Given the description of an element on the screen output the (x, y) to click on. 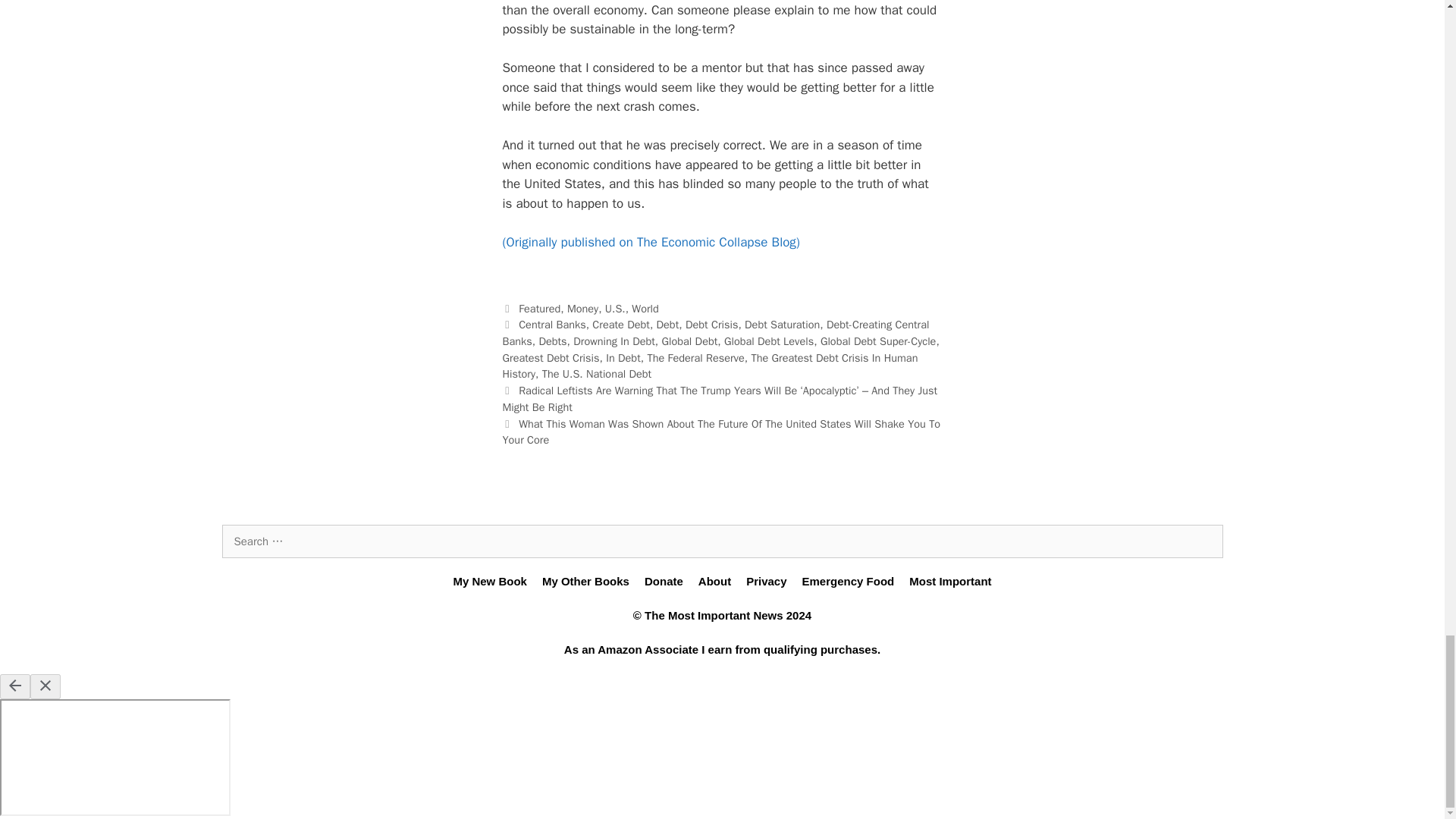
Global Debt Super-Cycle (878, 341)
World (644, 308)
The Federal Reserve (695, 357)
The Greatest Debt Crisis In Human History (709, 366)
In Debt (622, 357)
Create Debt (620, 324)
Debt-Creating Central Banks (715, 332)
Global Debt Levels (768, 341)
Greatest Debt Crisis (550, 357)
Debt Crisis (711, 324)
Debts (552, 341)
U.S. (615, 308)
Featured (539, 308)
Money (582, 308)
Drowning In Debt (614, 341)
